Given the description of an element on the screen output the (x, y) to click on. 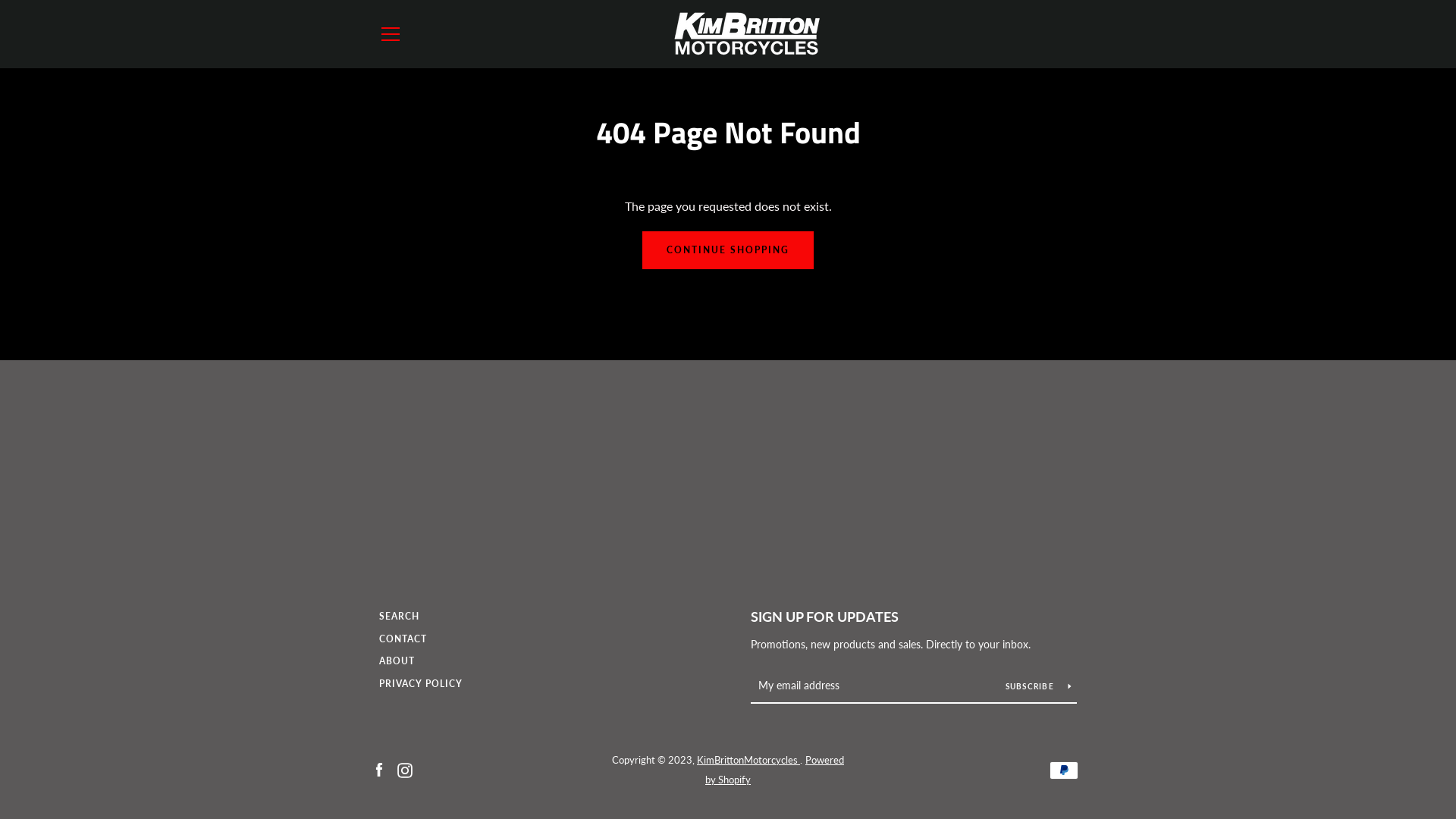
Powered by Shopify Element type: text (774, 769)
SEARCH Element type: text (399, 615)
SUBSCRIBE Element type: text (1037, 685)
CONTINUE SHOPPING Element type: text (727, 250)
CONTACT Element type: text (402, 638)
PRIVACY POLICY Element type: text (420, 683)
Instagram Element type: text (404, 768)
ABOUT Element type: text (396, 660)
KimBrittonMotorcycles Element type: text (748, 759)
MENU Element type: text (390, 34)
Facebook Element type: text (378, 768)
Skip to content Element type: text (0, 0)
